Given the description of an element on the screen output the (x, y) to click on. 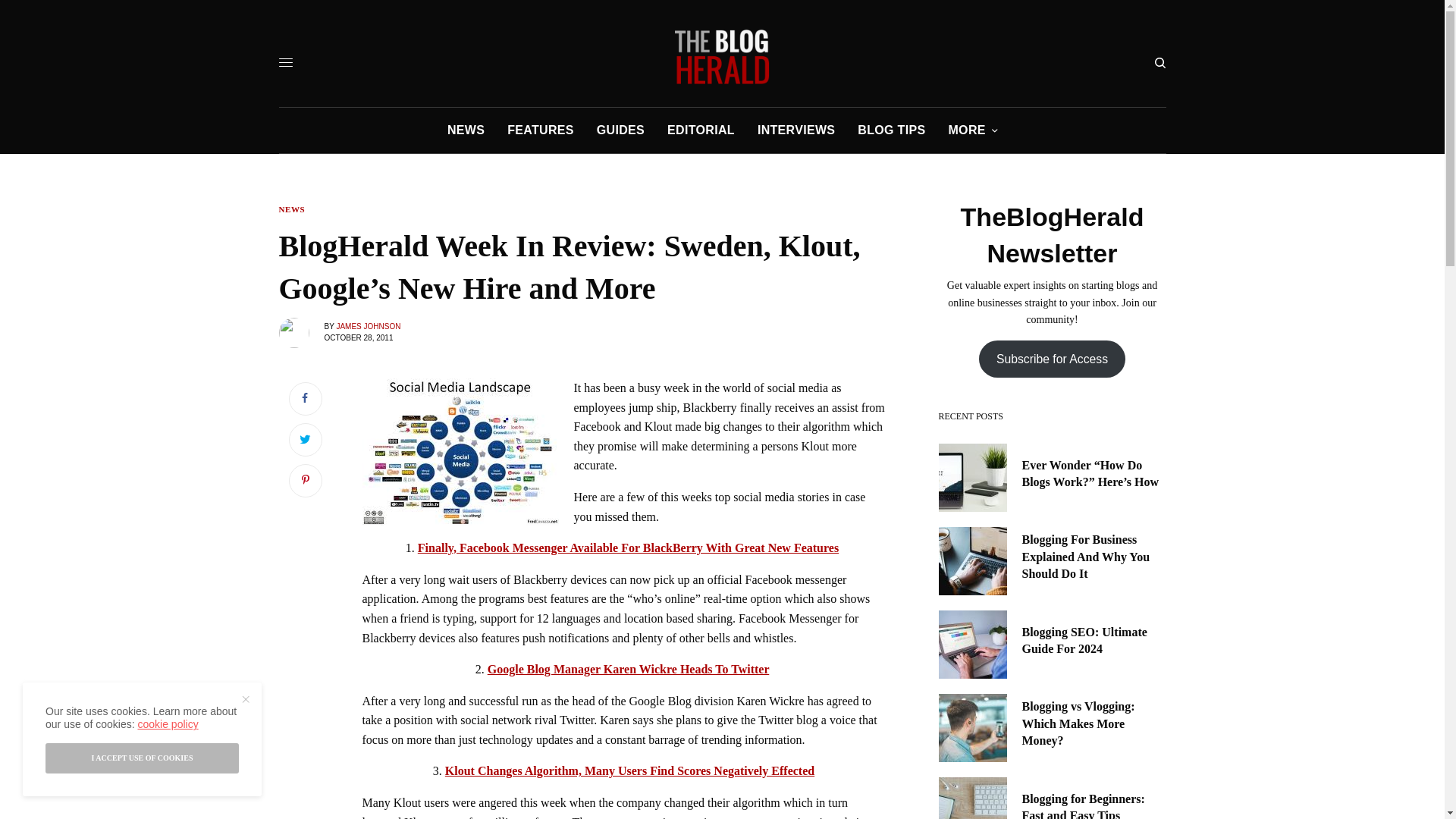
FEATURES (539, 130)
Google Blog Manager Karen Wickre Heads To Twitter (628, 668)
INTERVIEWS (795, 130)
GUIDES (620, 130)
JAMES JOHNSON (368, 326)
The Blog Herald (722, 56)
Social Media (460, 451)
Blogging For Business Explained And Why You Should Do It (1094, 556)
Subscribe for Access (1051, 358)
Posts by James Johnson (368, 326)
MORE (972, 130)
Blogging vs Vlogging: Which Makes More Money? (1094, 723)
NEWS (465, 130)
Blogging for Beginners: Fast and Easy Tips (1094, 805)
